Given the description of an element on the screen output the (x, y) to click on. 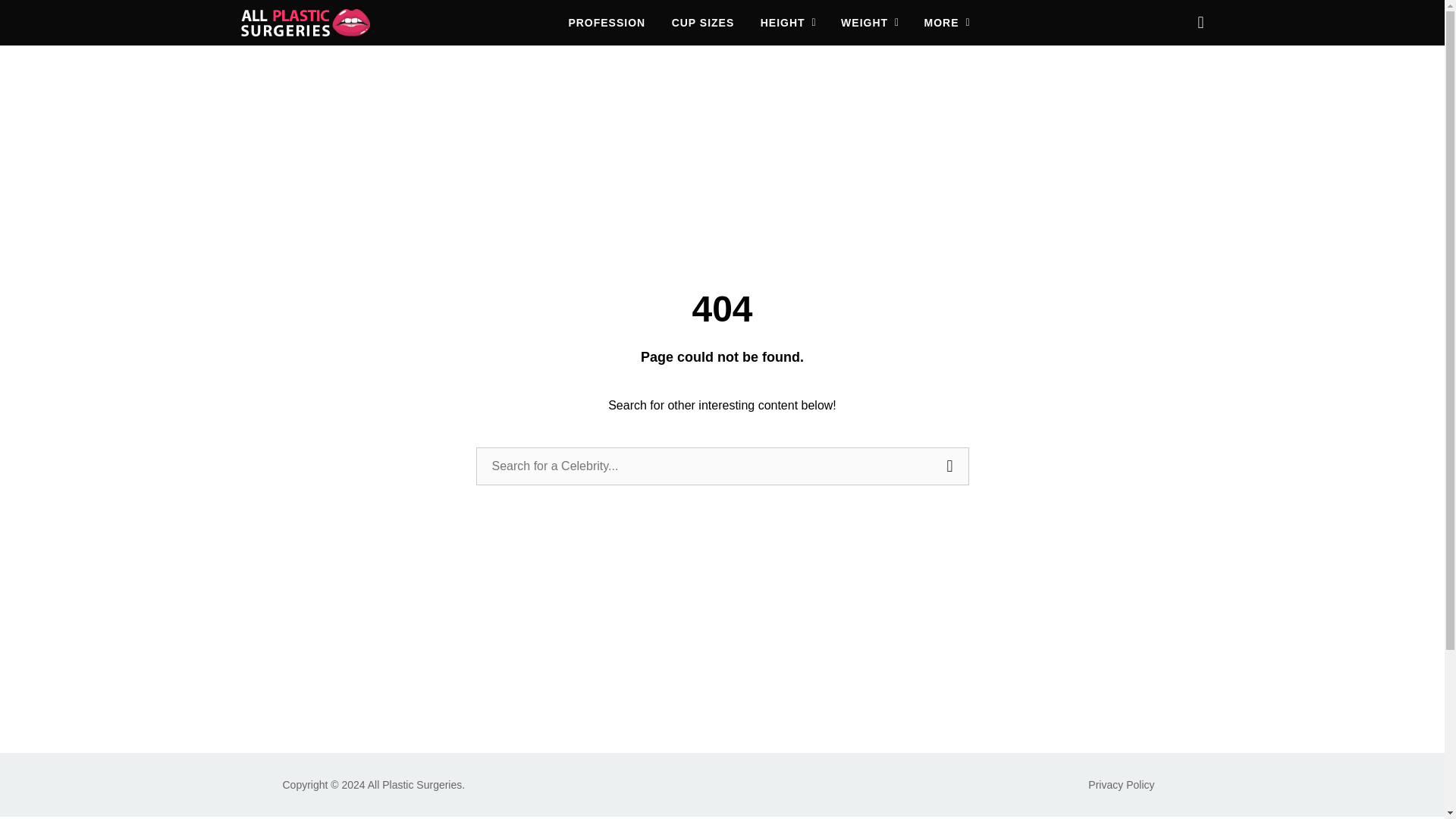
Privacy Policy (1120, 784)
CUP SIZES (703, 22)
WEIGHT (870, 22)
Search (950, 466)
HEIGHT (788, 22)
PROFESSION (606, 22)
MORE (947, 22)
